Given the description of an element on the screen output the (x, y) to click on. 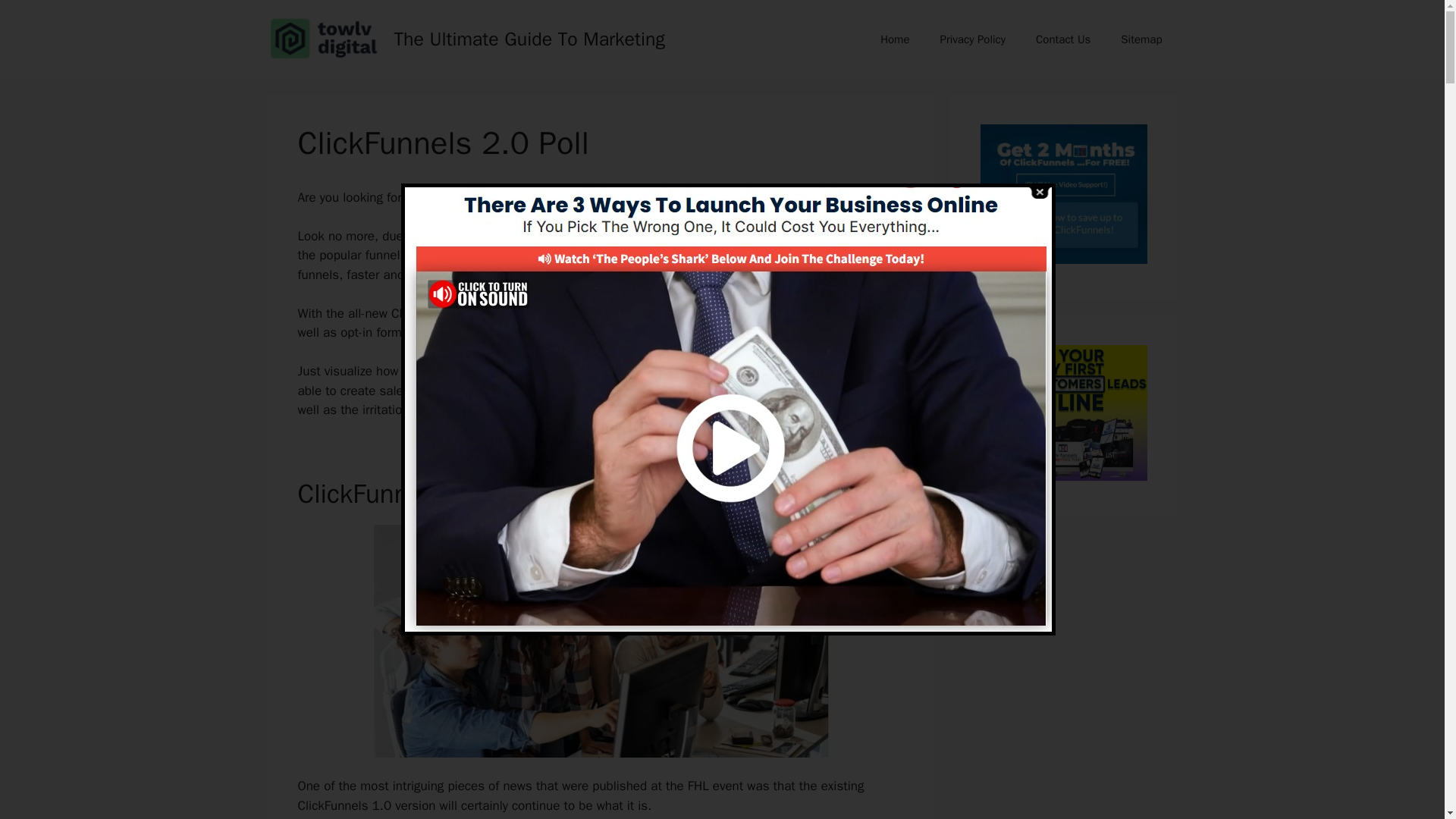
The Ultimate Guide To Marketing (529, 38)
Contact Us (1062, 39)
Sitemap (1140, 39)
Privacy Policy (972, 39)
Home (894, 39)
